Given the description of an element on the screen output the (x, y) to click on. 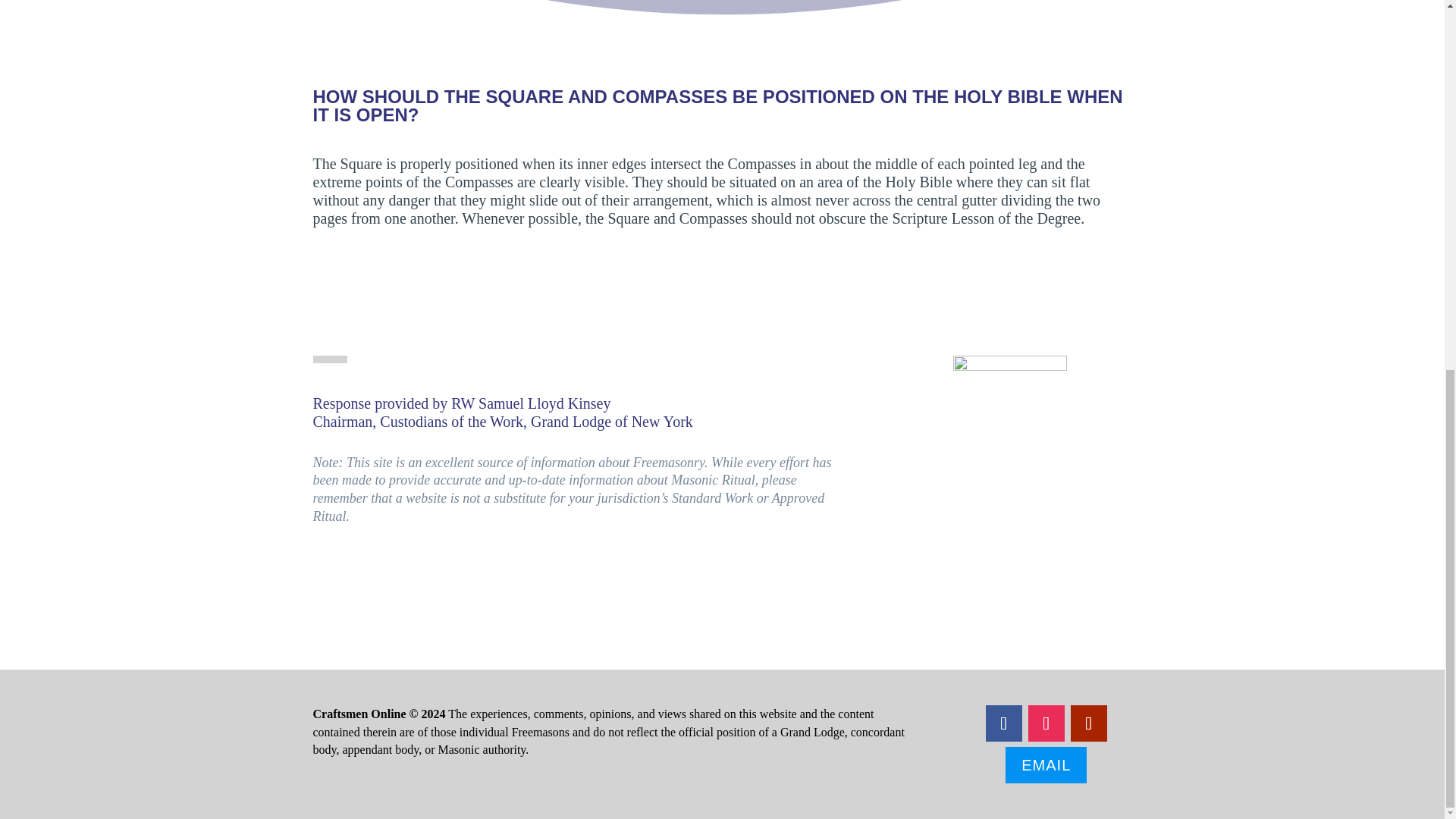
Follow on Youtube (1088, 723)
Follow on Facebook (1003, 723)
grand lodge logo embroidered (1010, 412)
Follow on Instagram (1045, 723)
EMAIL (1046, 764)
